Given the description of an element on the screen output the (x, y) to click on. 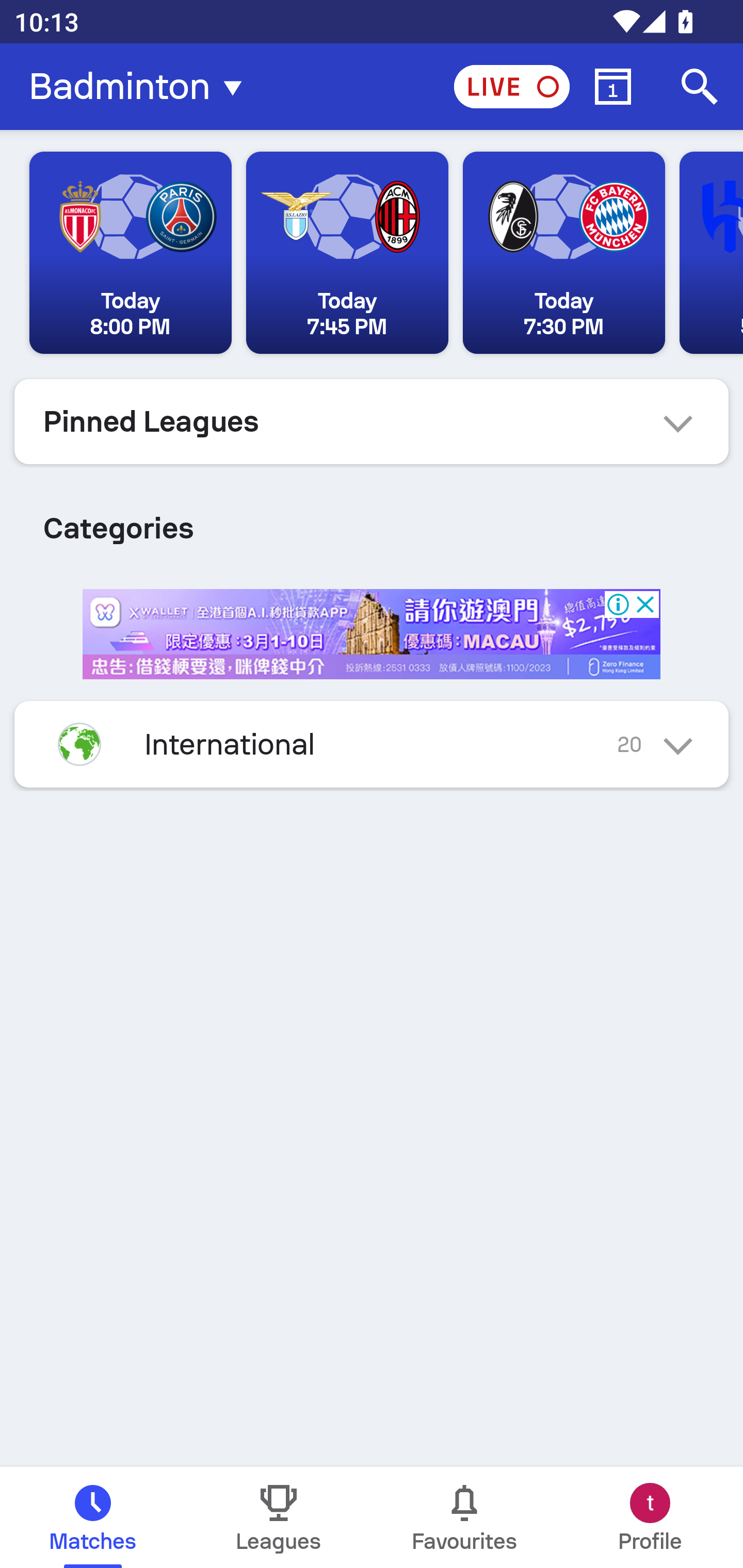
Badminton (141, 86)
Calendar (612, 86)
Search (699, 86)
Today
8:00 PM (130, 253)
Today
7:45 PM (346, 253)
Today
7:30 PM (563, 253)
Pinned Leagues (371, 421)
Categories (371, 520)
International 20 (371, 743)
Leagues (278, 1517)
Favourites (464, 1517)
Profile (650, 1517)
